Given the description of an element on the screen output the (x, y) to click on. 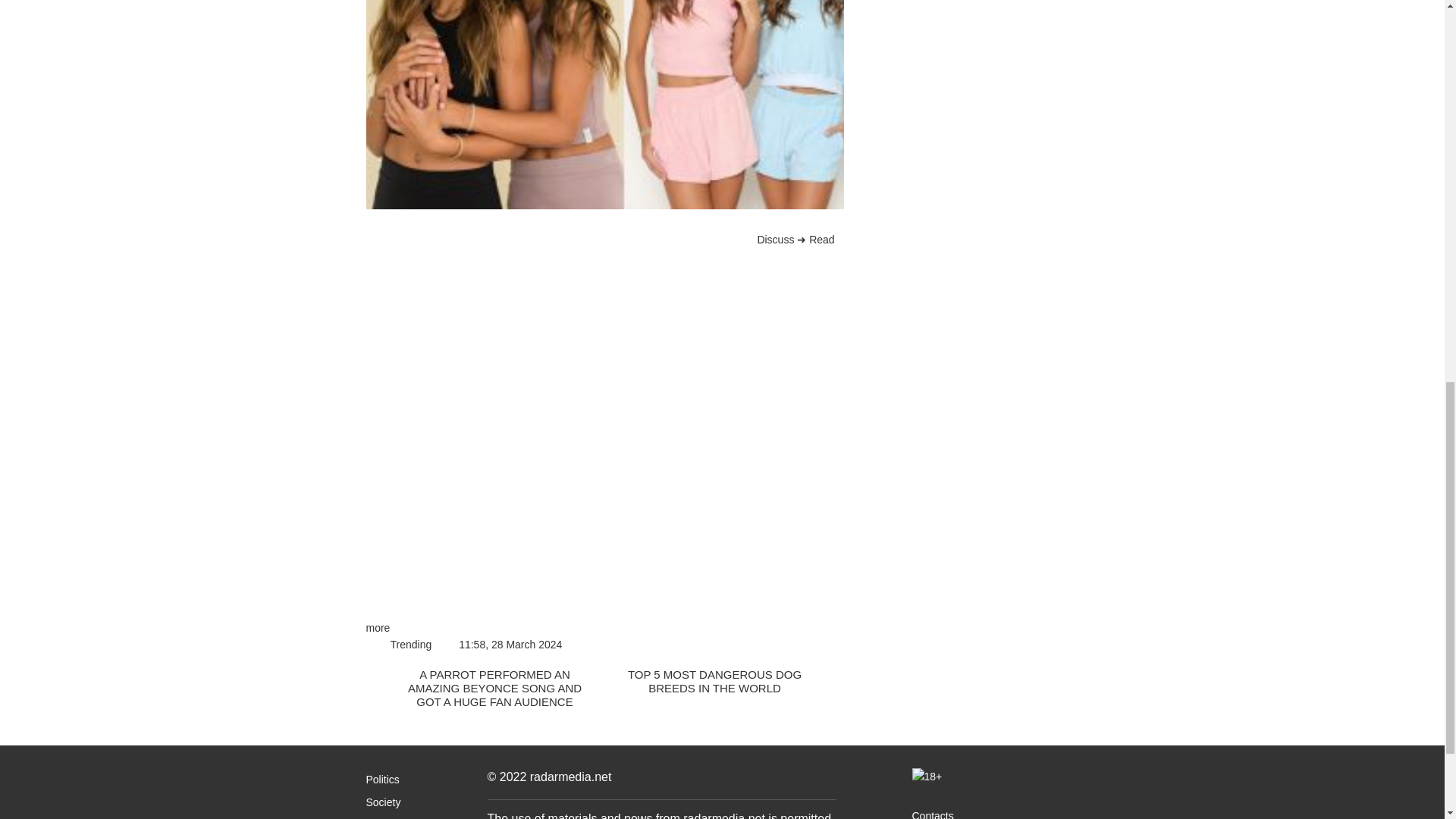
Trending (410, 644)
10 MELANIA FACTS THAT WILL STUN YOU (972, 17)
Politics (381, 779)
Society (382, 802)
Contacts (932, 814)
TOP 5 MOST DANGEROUS DOG BREEDS IN THE WORLD (725, 681)
Discuss (580, 239)
